Given the description of an element on the screen output the (x, y) to click on. 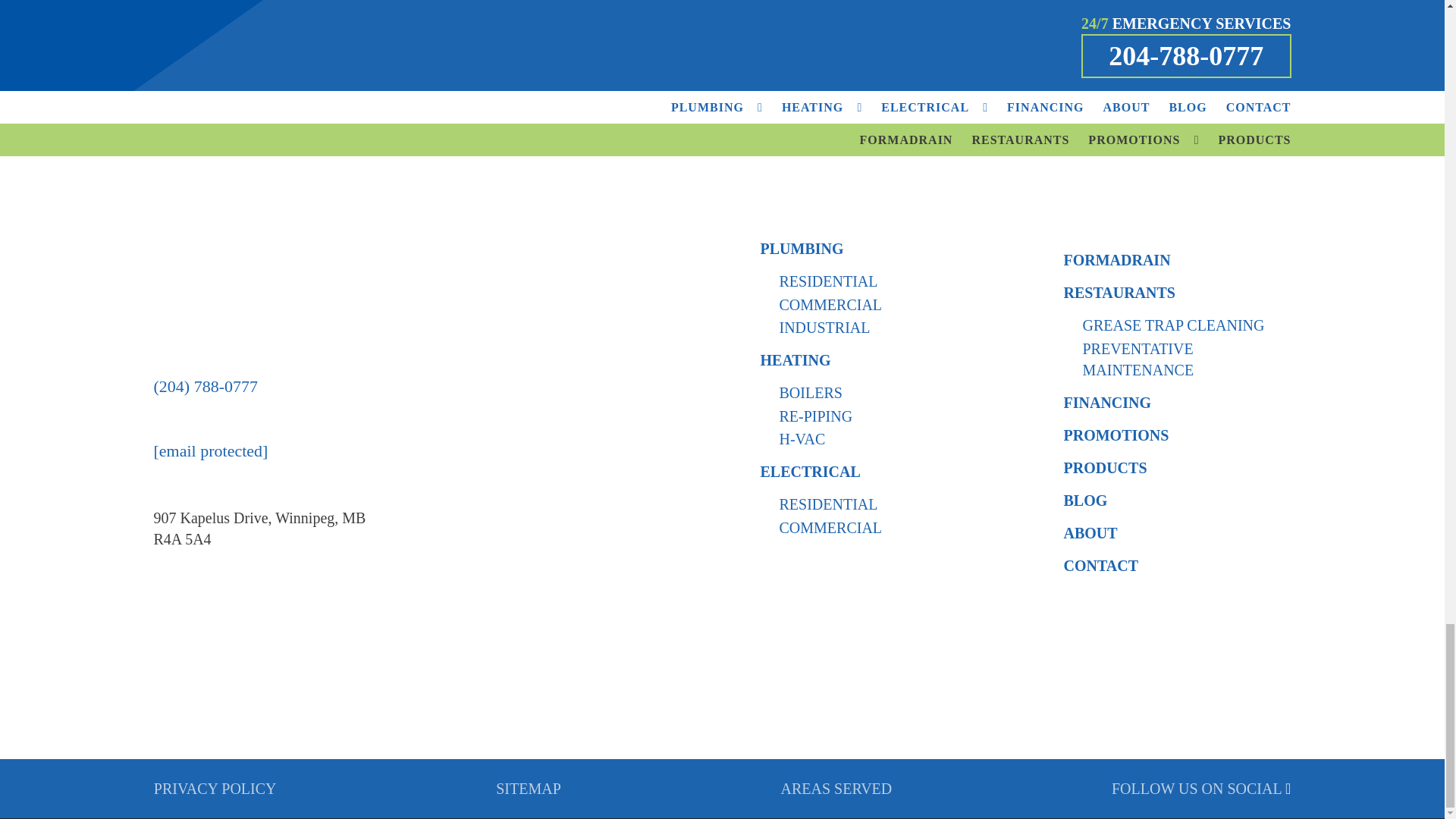
Boiler Services (873, 392)
Electrical Services (810, 471)
FORMADRAIN (1116, 259)
Commercial Services (873, 304)
Heating Services (794, 360)
Restaurants (1118, 292)
Commercial Services (873, 527)
Plumbing Services (801, 248)
HVAC (873, 438)
Grease Trap Cleaning (1176, 324)
